Given the description of an element on the screen output the (x, y) to click on. 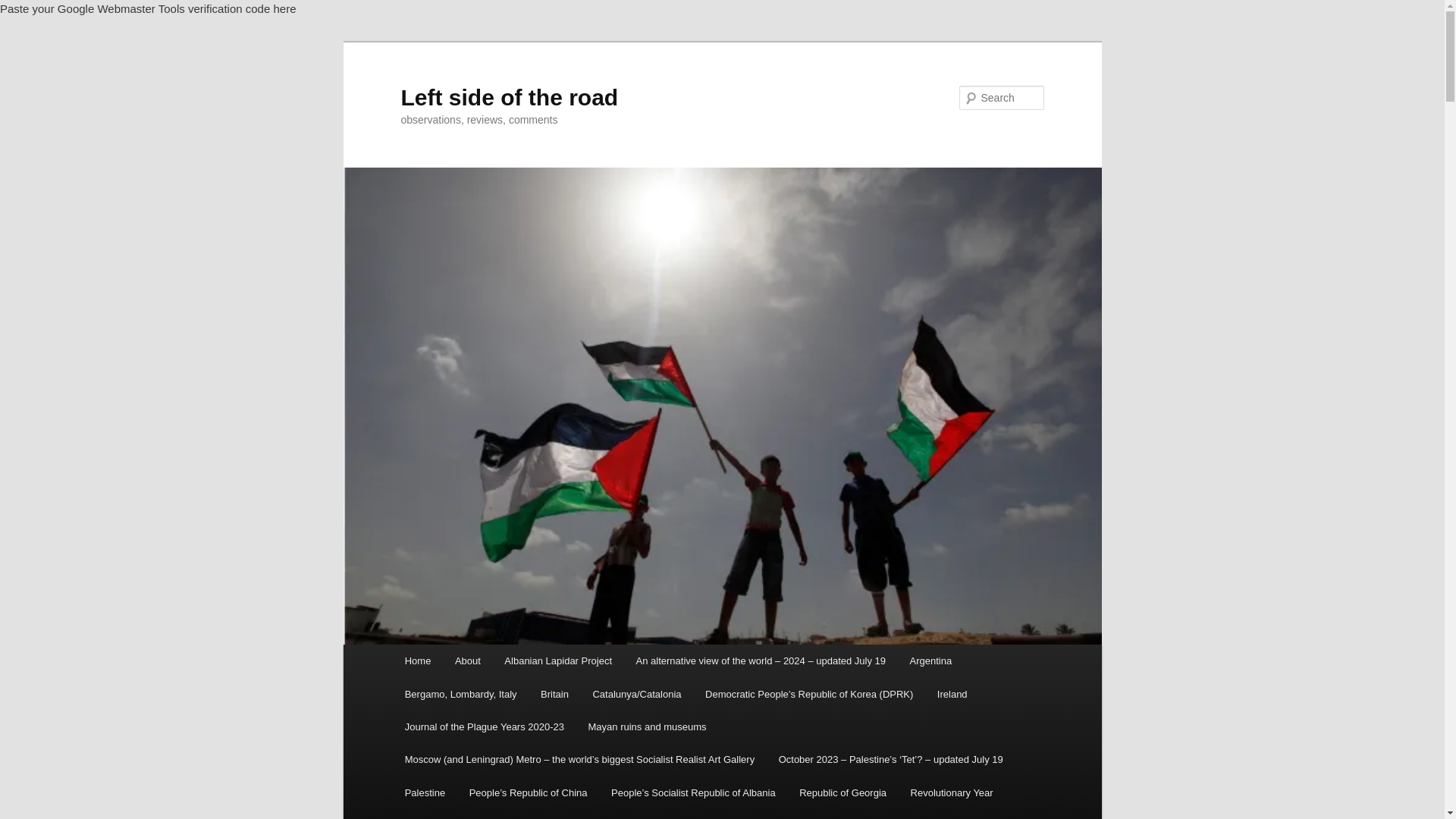
The Peruvian Revolution (775, 814)
Bergamo, Lombardy, Italy (460, 694)
Left side of the road (508, 97)
Home (417, 660)
Argentina (930, 660)
Mayan ruins and museums (647, 726)
Search (24, 8)
Ireland (951, 694)
Palestine (425, 792)
Albanian Lapidar Project (558, 660)
Republic of Georgia (842, 792)
Journal of the Plague Years 2020-23 (484, 726)
Revolutionary Year (952, 792)
About (467, 660)
